Given the description of an element on the screen output the (x, y) to click on. 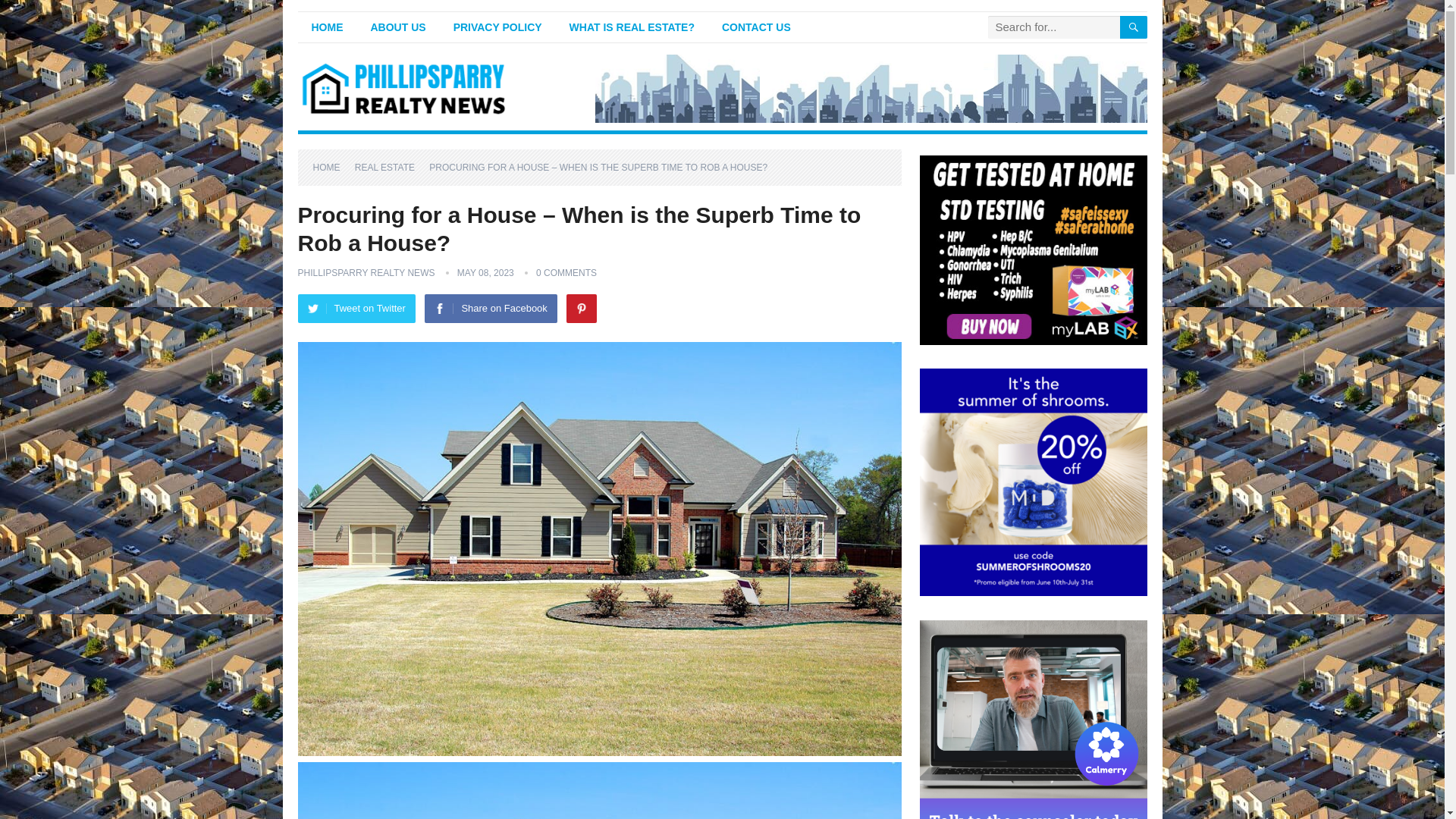
Share on Facebook (490, 308)
ABOUT US (397, 27)
0 COMMENTS (565, 272)
HOME (326, 27)
PRIVACY POLICY (497, 27)
WHAT IS REAL ESTATE? (631, 27)
PHILLIPSPARRY REALTY NEWS (365, 272)
Tweet on Twitter (355, 308)
View all posts in Real Estate (390, 167)
CONTACT US (756, 27)
Pinterest (581, 308)
REAL ESTATE (390, 167)
HOME (331, 167)
Posts by PhillipsParry Realty News (365, 272)
